Given the description of an element on the screen output the (x, y) to click on. 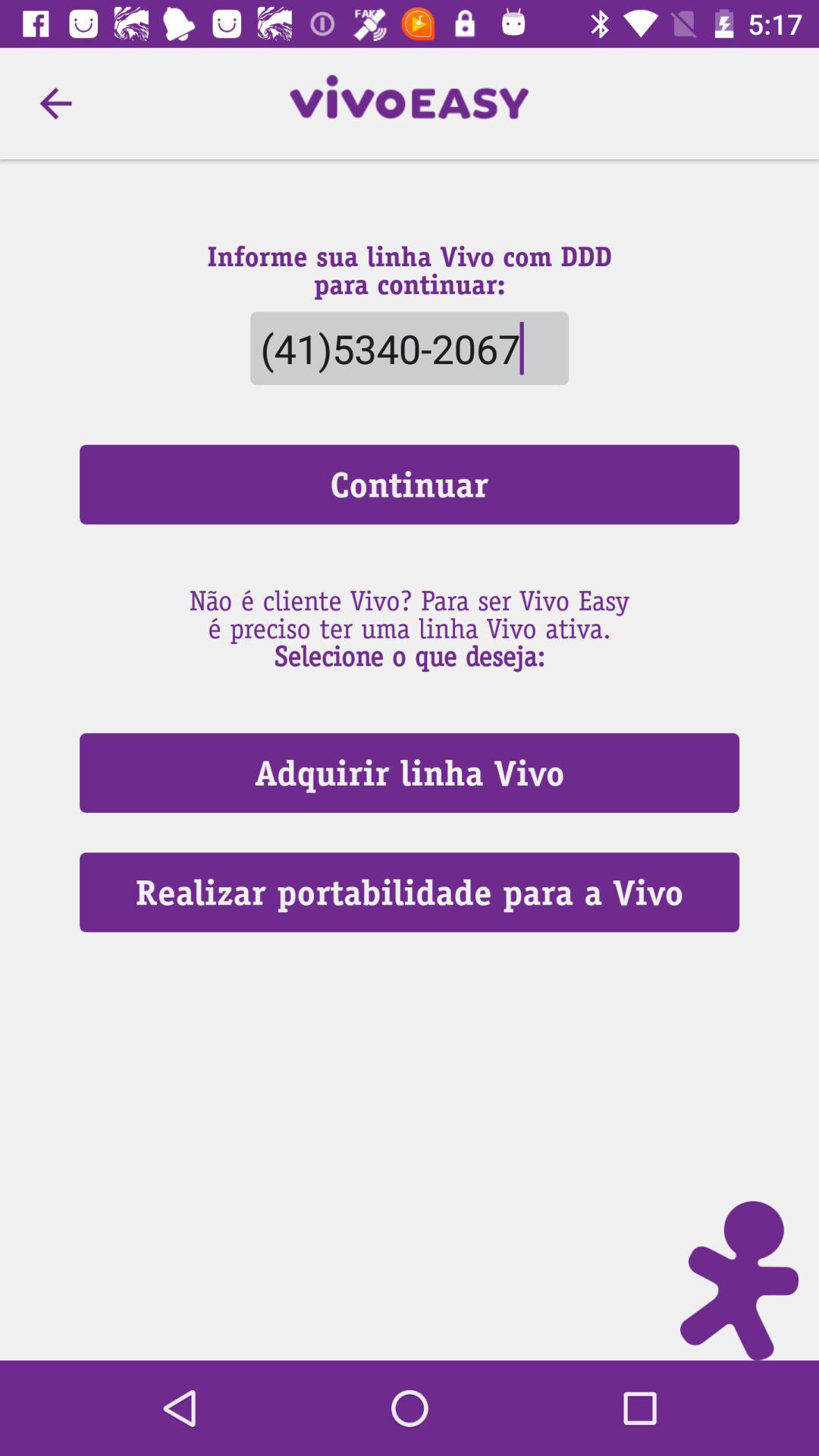
scroll to the realizar portabilidade para icon (409, 892)
